Given the description of an element on the screen output the (x, y) to click on. 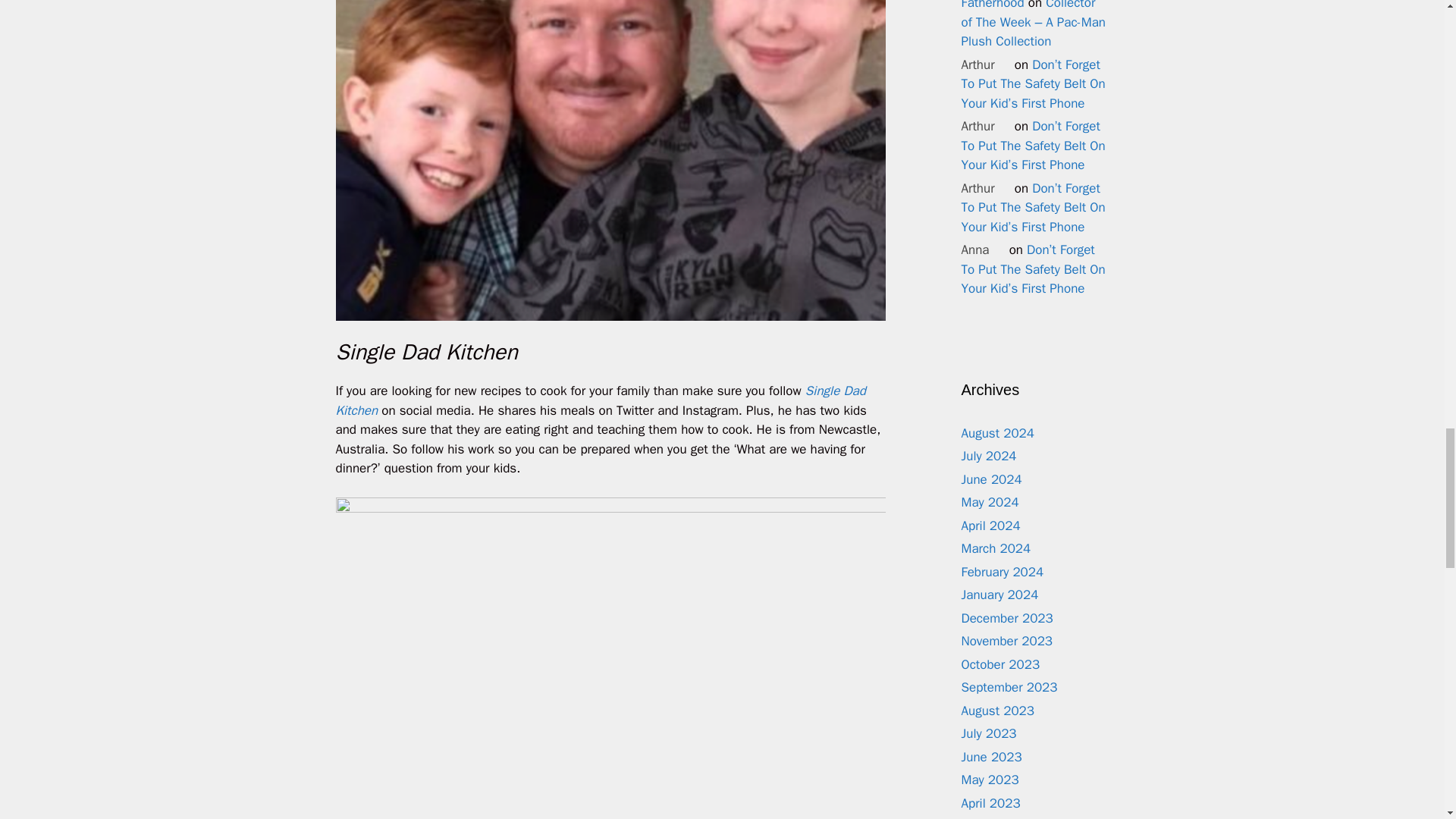
Single Dad Kitchen (599, 400)
